Given the description of an element on the screen output the (x, y) to click on. 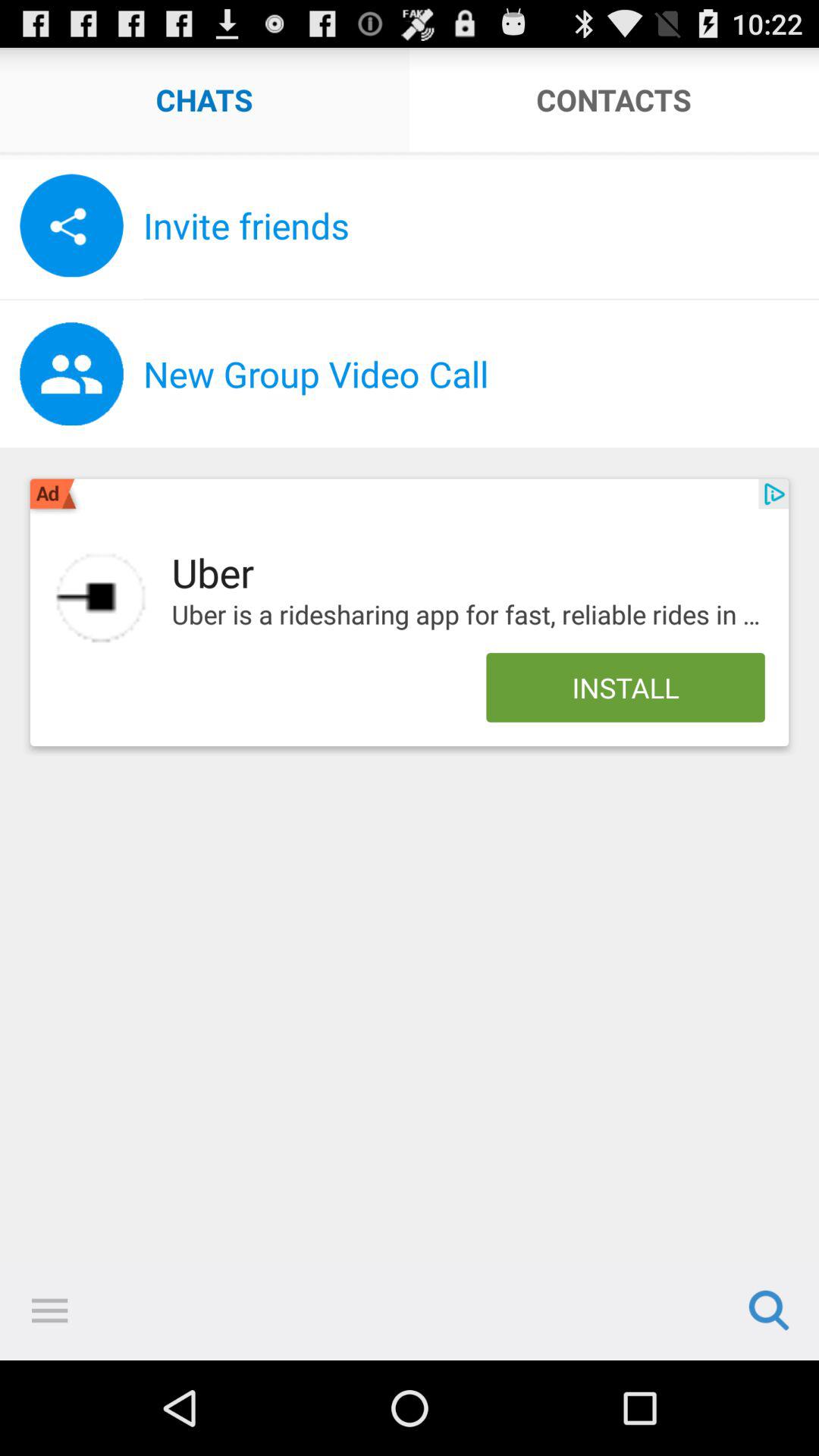
tap the item above the uber is a (773, 493)
